Given the description of an element on the screen output the (x, y) to click on. 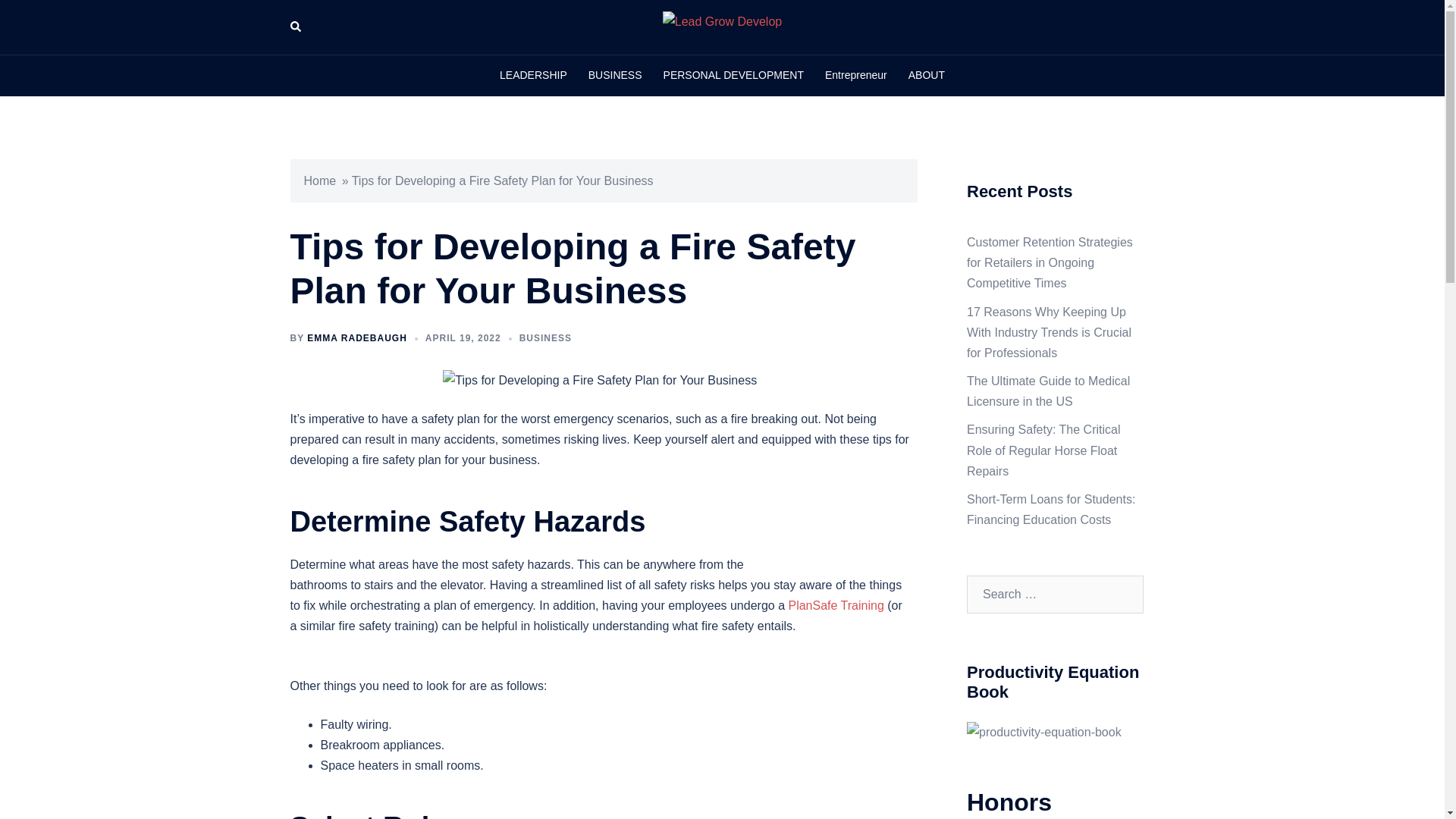
Search (47, 18)
Lead Grow Develop (721, 25)
EMMA RADEBAUGH (357, 337)
Short-Term Loans for Students: Financing Education Costs (1050, 509)
PlanSafe Training (835, 604)
PERSONAL DEVELOPMENT (733, 75)
Entrepreneur (855, 75)
Home (319, 180)
Search (295, 27)
BUSINESS (615, 75)
BUSINESS (545, 337)
